Given the description of an element on the screen output the (x, y) to click on. 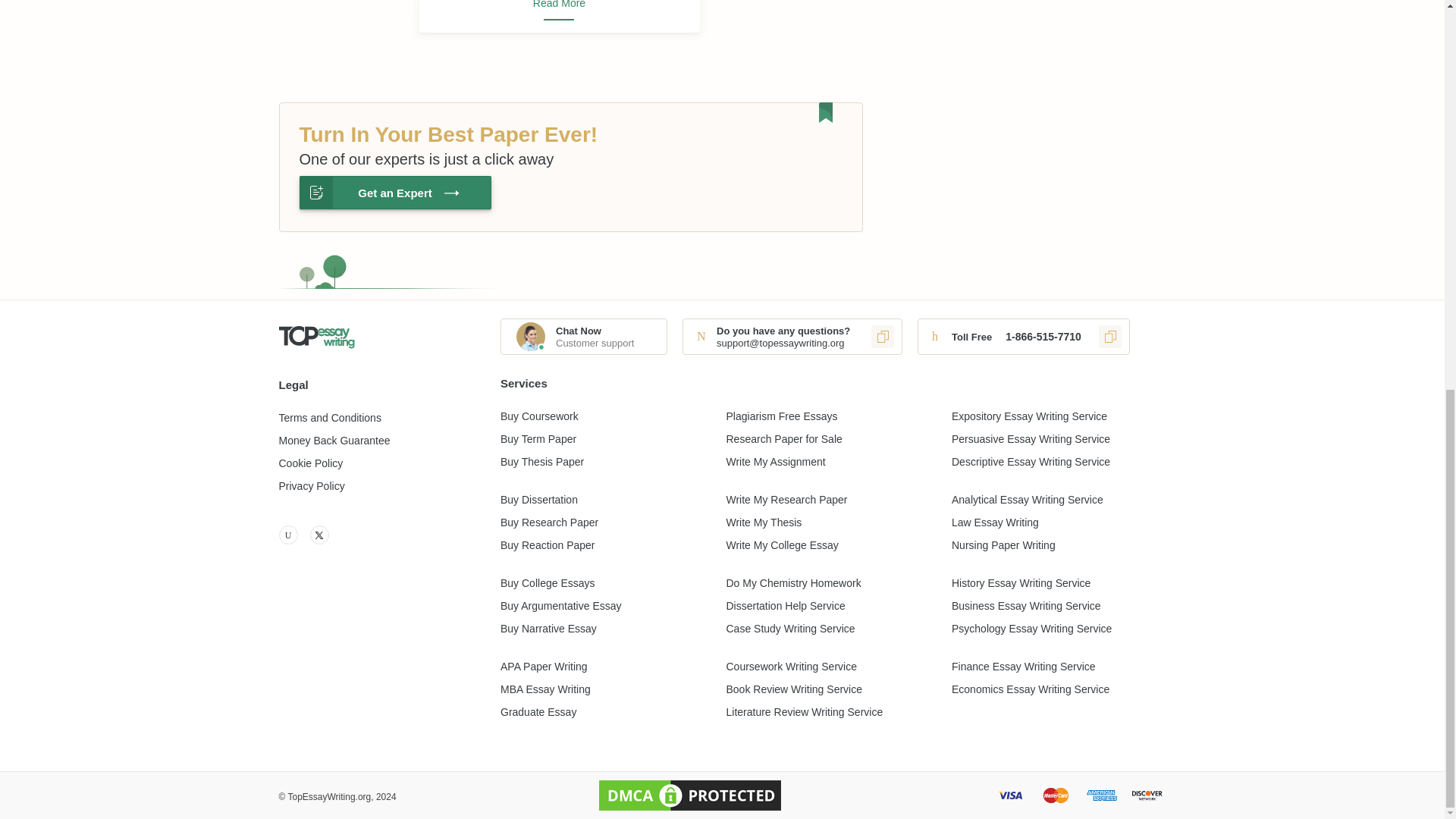
Copied to clipboard (881, 336)
DMCA.com Protection Status (689, 795)
Copied to clipboard (1110, 336)
